Given the description of an element on the screen output the (x, y) to click on. 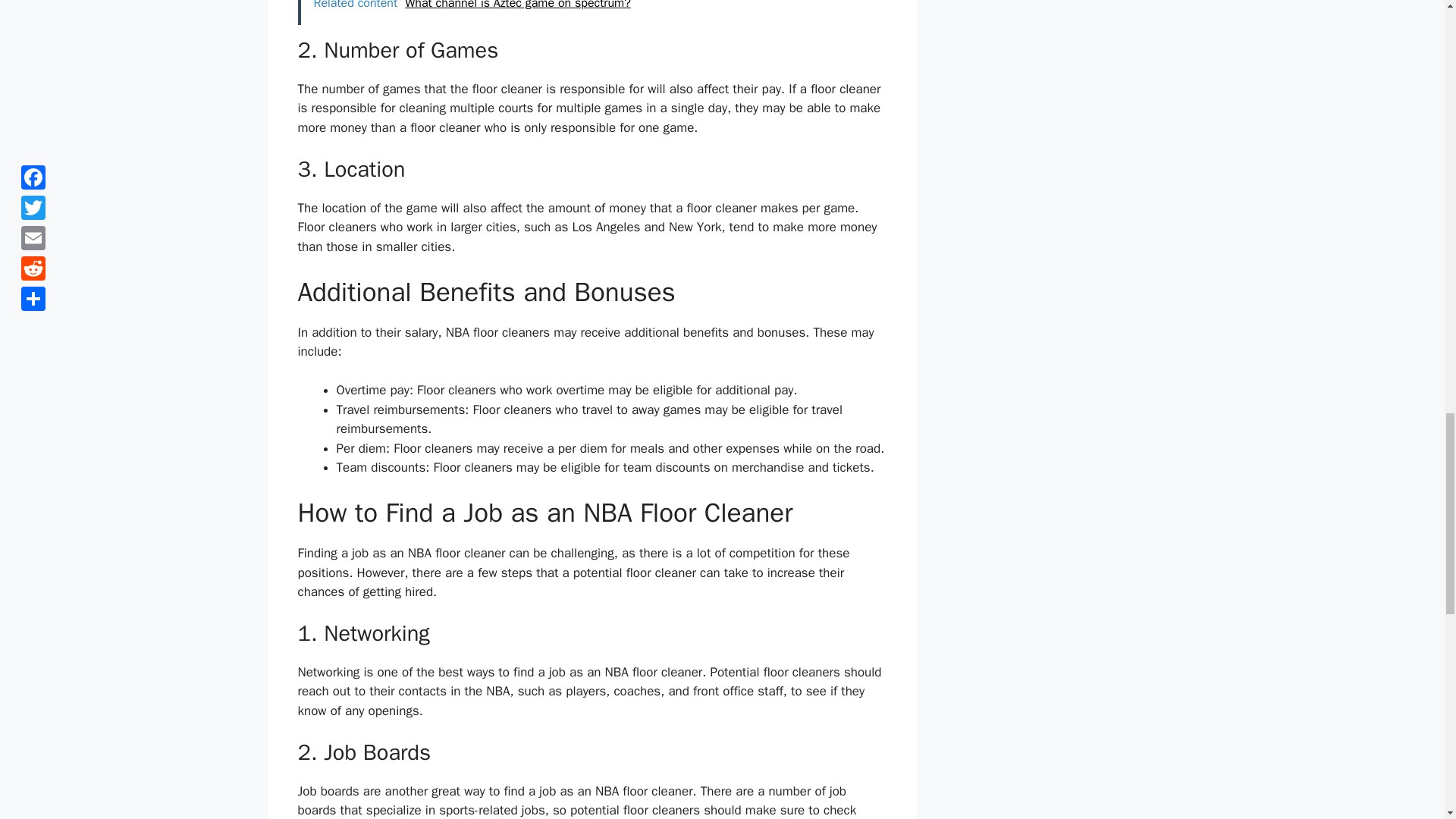
Related content  What channel is Aztec game on spectrum? (591, 12)
